Given the description of an element on the screen output the (x, y) to click on. 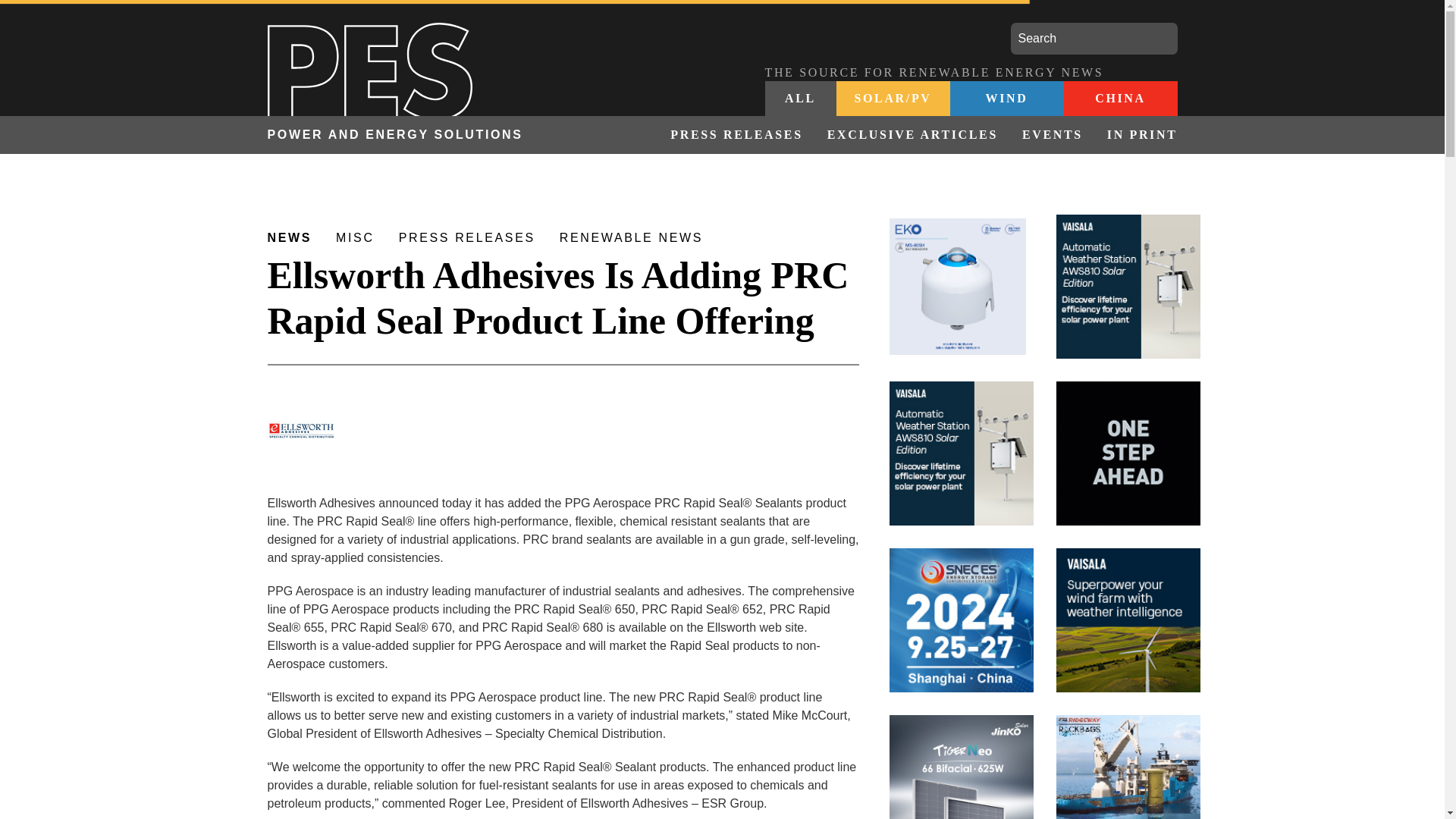
EXCLUSIVE ARTICLES (912, 134)
IN PRINT (1135, 134)
ALL (799, 98)
Search for: (1093, 38)
PRESS RELEASES (735, 134)
EVENTS (1052, 134)
WIND (1005, 98)
CHINA (1119, 98)
